Given the description of an element on the screen output the (x, y) to click on. 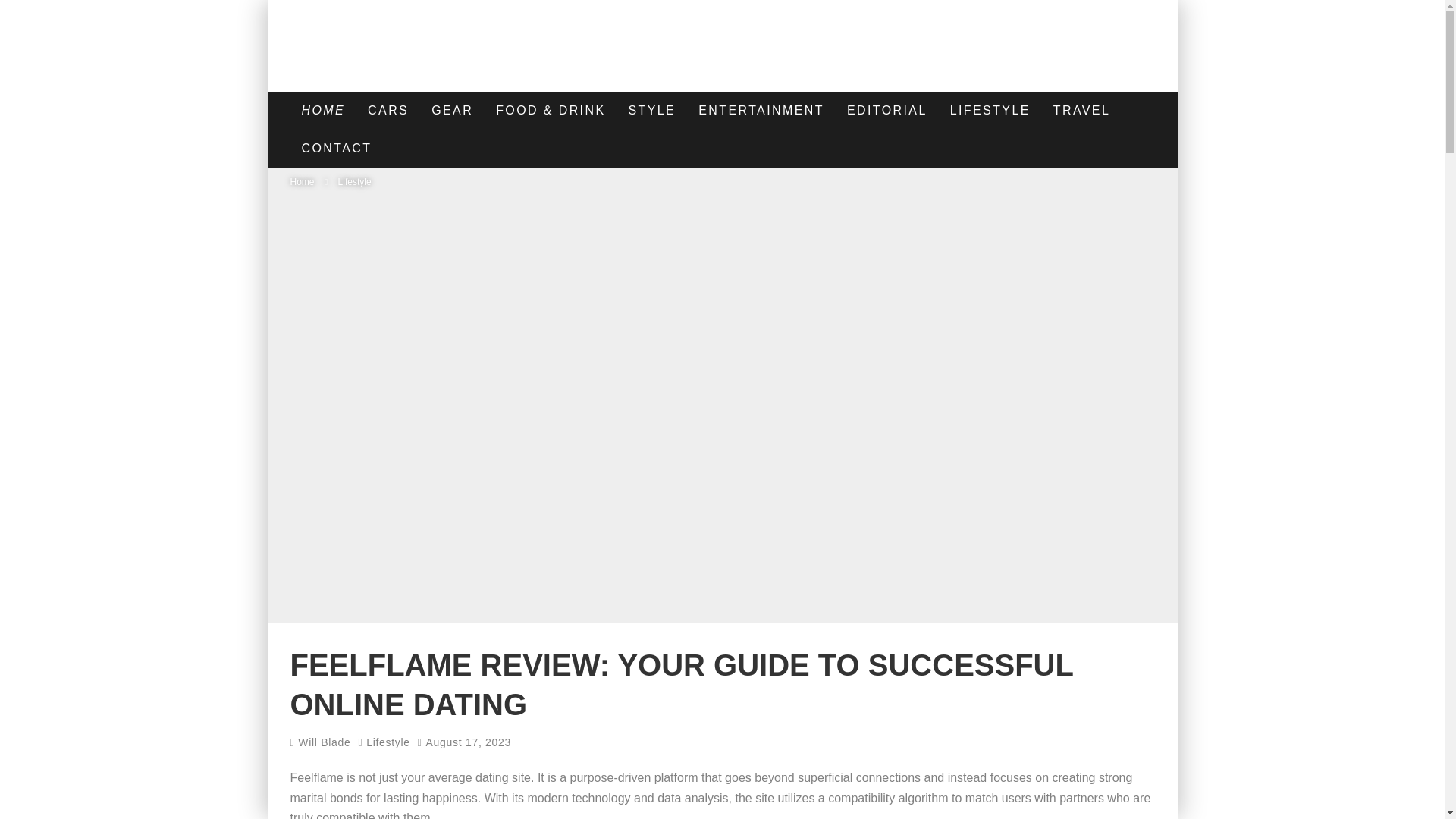
HOME (322, 110)
CARS (388, 110)
GEAR (452, 110)
